Given the description of an element on the screen output the (x, y) to click on. 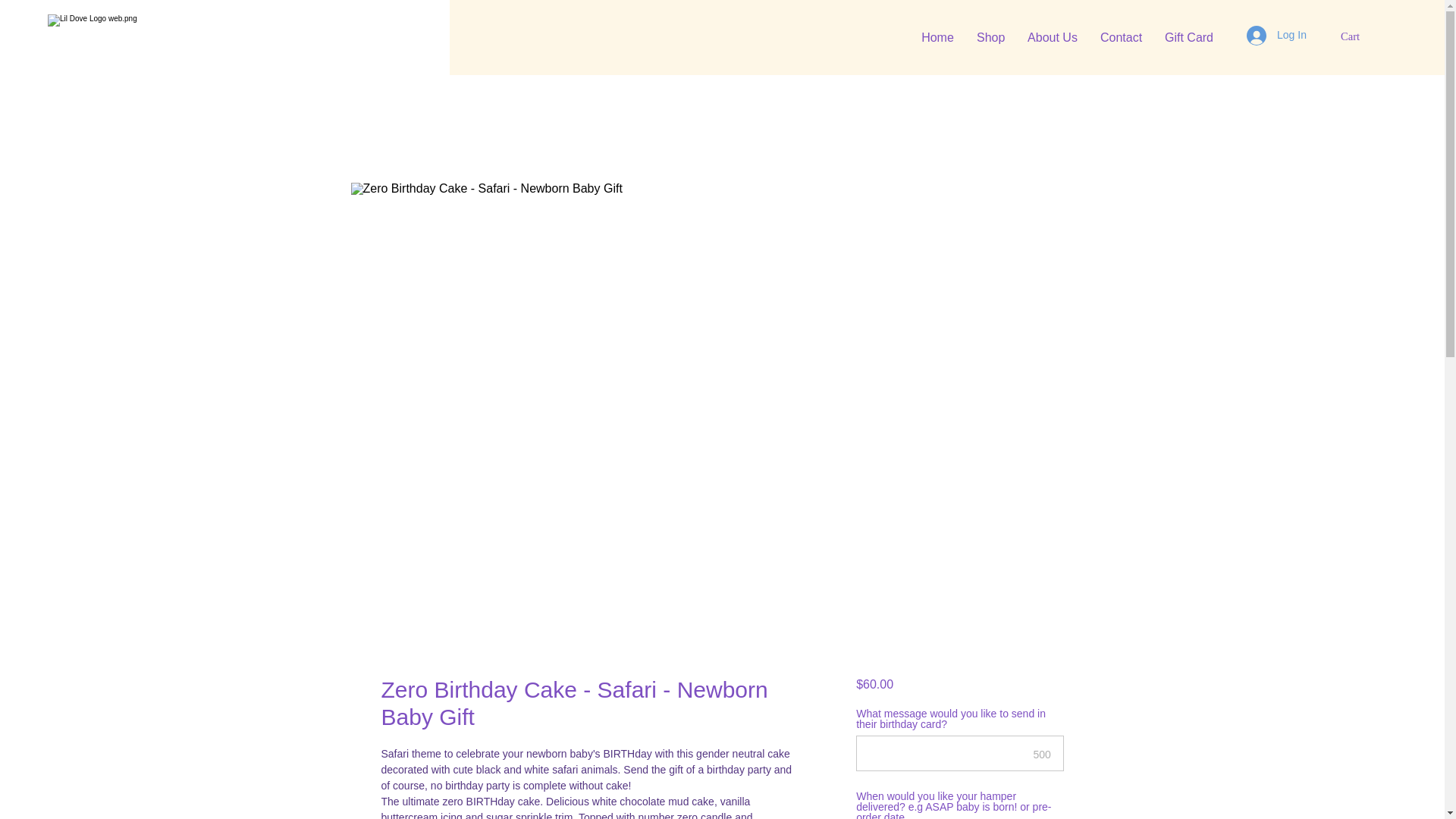
Gift Card (1188, 37)
Cart (1357, 36)
About Us (1052, 37)
Home (937, 37)
Log In (1275, 35)
Shop (990, 37)
Cart (1357, 36)
Contact (1121, 37)
